Given the description of an element on the screen output the (x, y) to click on. 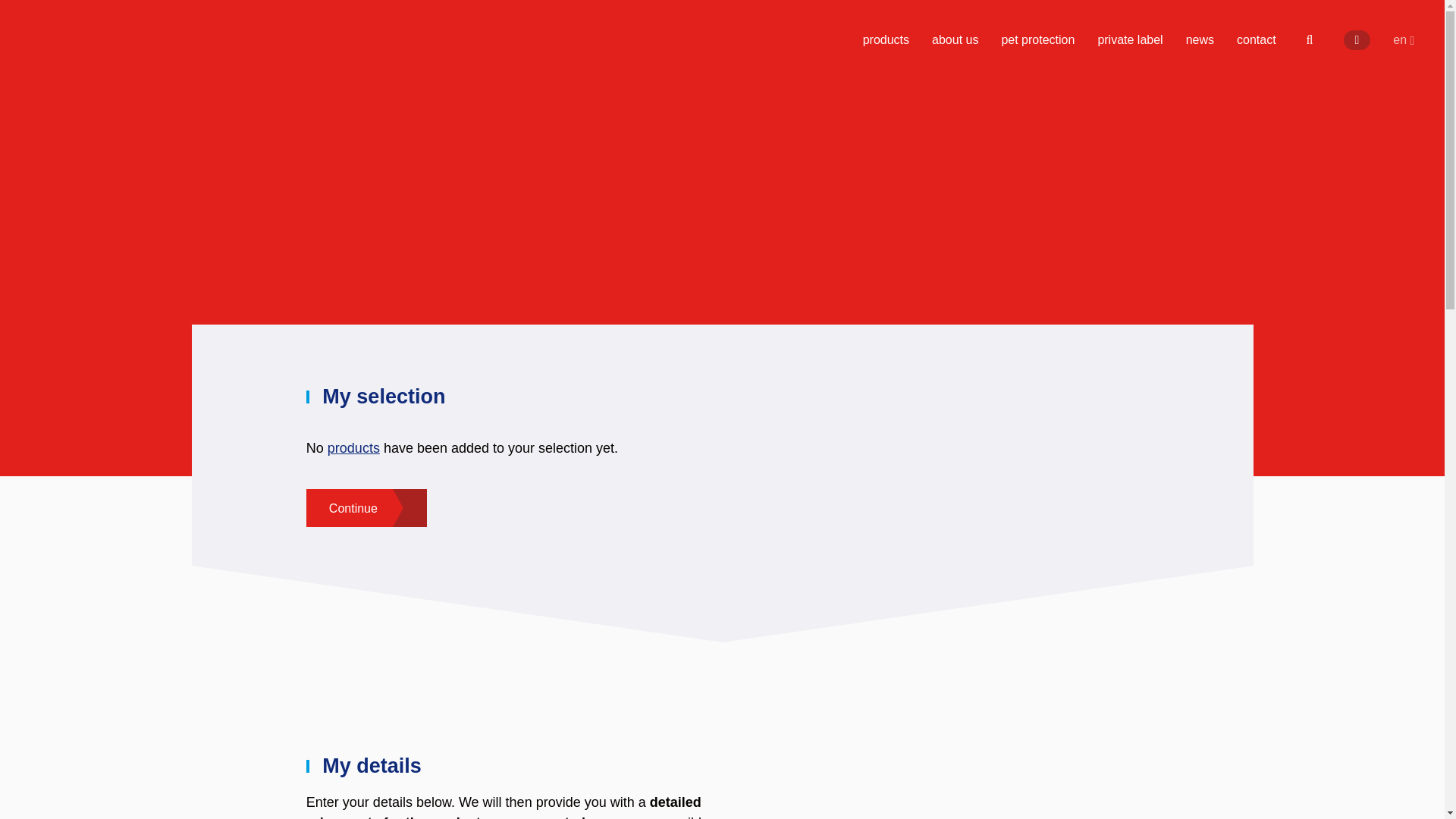
pet protection (1037, 39)
News (1200, 39)
Pet protection (1037, 39)
front.name (117, 45)
About us (954, 39)
news (1200, 39)
contact (1256, 39)
Private label (1129, 39)
products (885, 39)
private label (1129, 39)
